Given the description of an element on the screen output the (x, y) to click on. 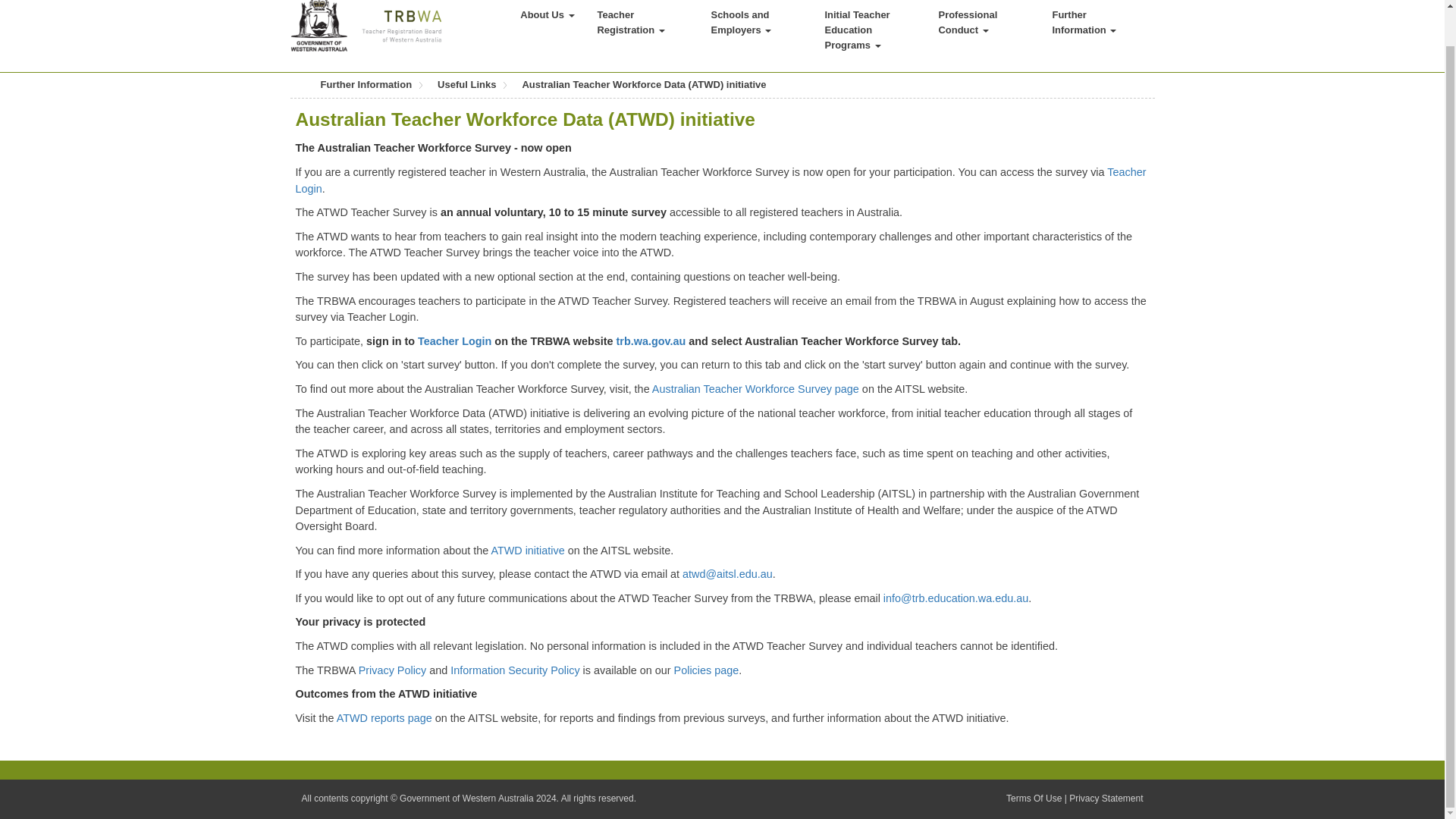
TRB Public Website (365, 23)
Teacher Registration (641, 24)
About Us (546, 17)
